Given the description of an element on the screen output the (x, y) to click on. 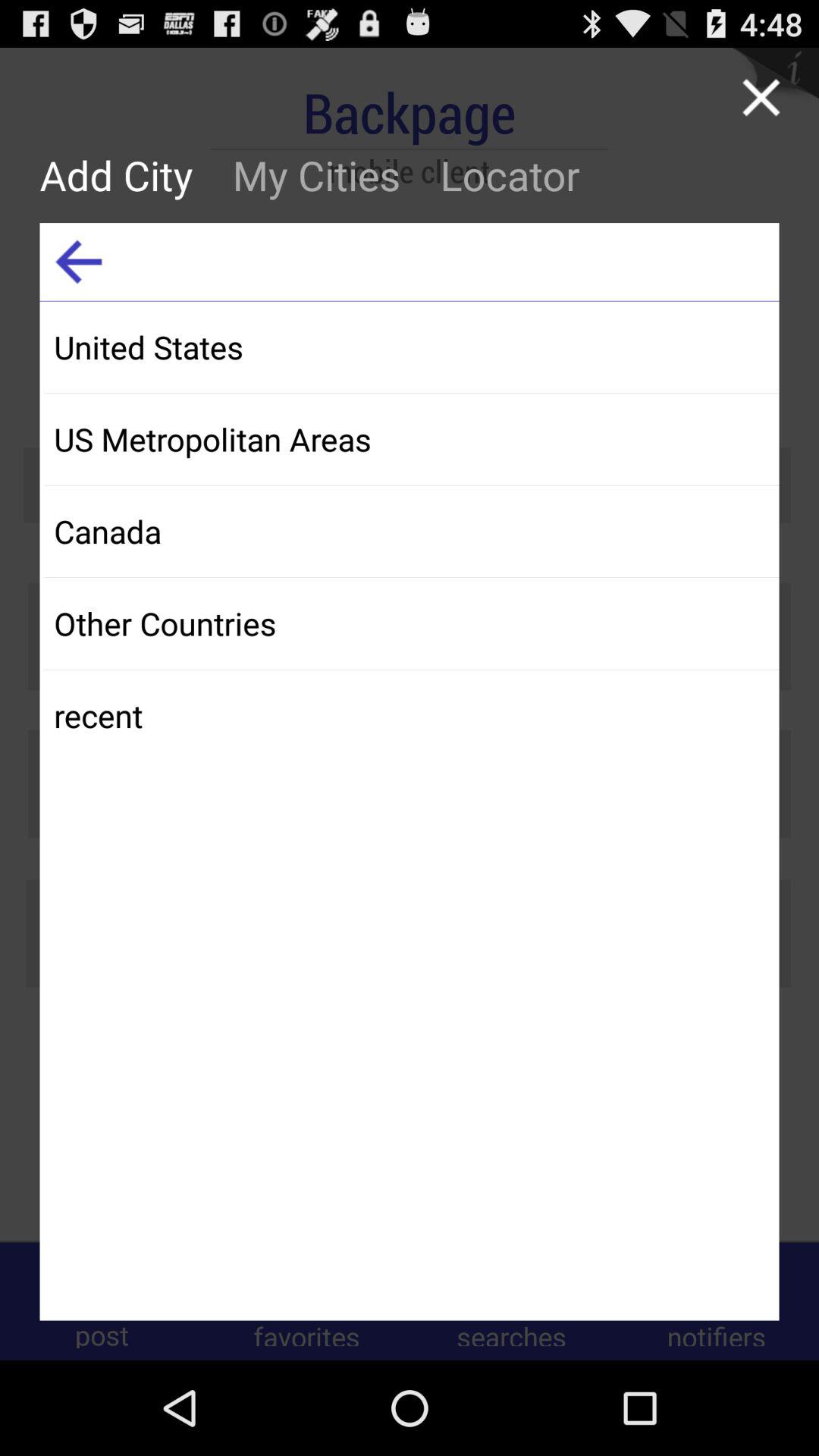
swipe until my cities icon (316, 174)
